Given the description of an element on the screen output the (x, y) to click on. 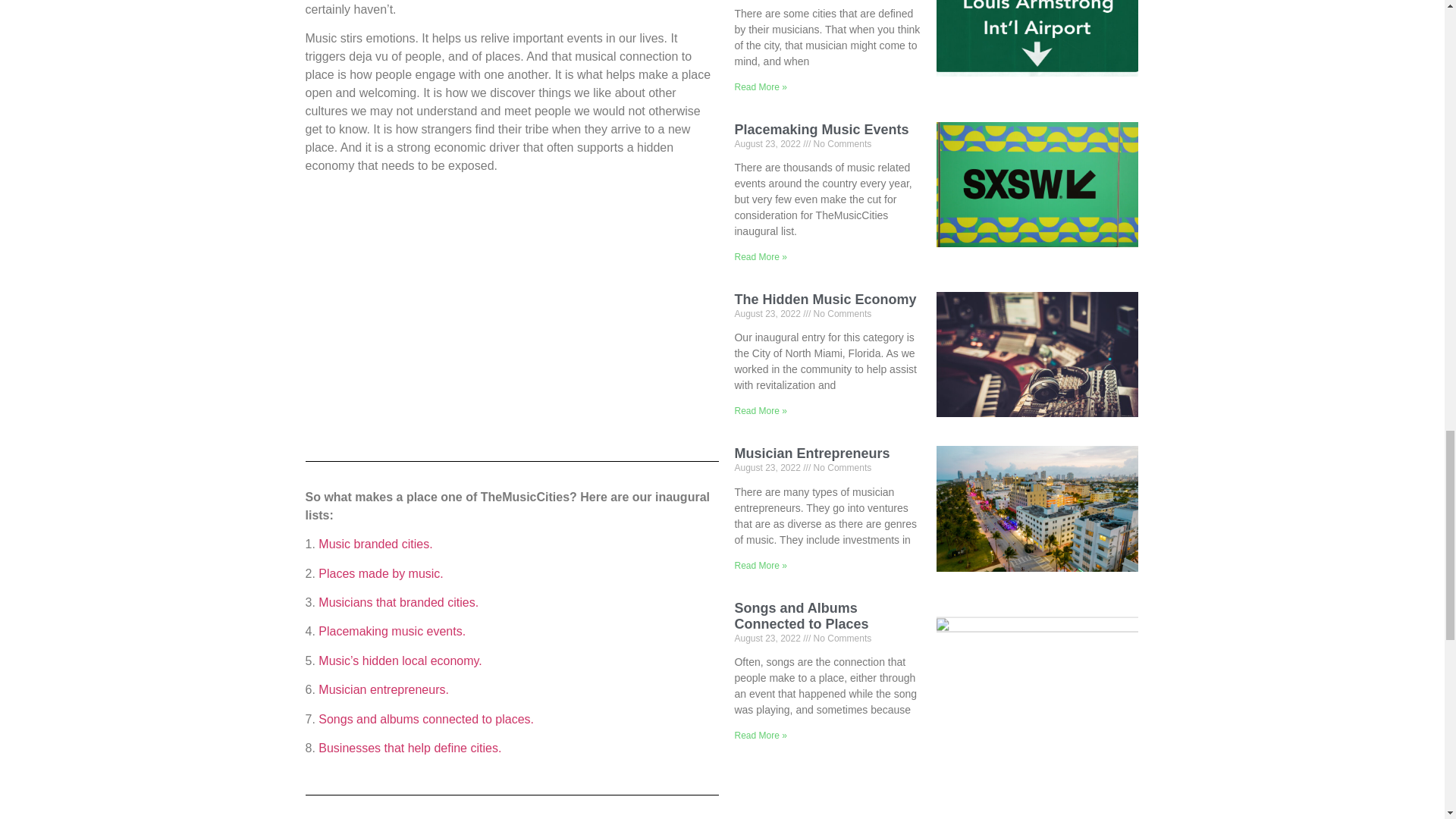
Placemaking music events. (391, 631)
Songs and Albums Connected to Places (800, 616)
Businesses that help define cities. (409, 748)
Musician Entrepreneurs (811, 453)
Musician entrepreneurs. (383, 689)
The Hidden Music Economy (824, 299)
Placemaking Music Events (820, 129)
Songs and albums connected to places. (426, 718)
Musicians that branded cities. (398, 602)
Music branded cities. (375, 543)
